Given the description of an element on the screen output the (x, y) to click on. 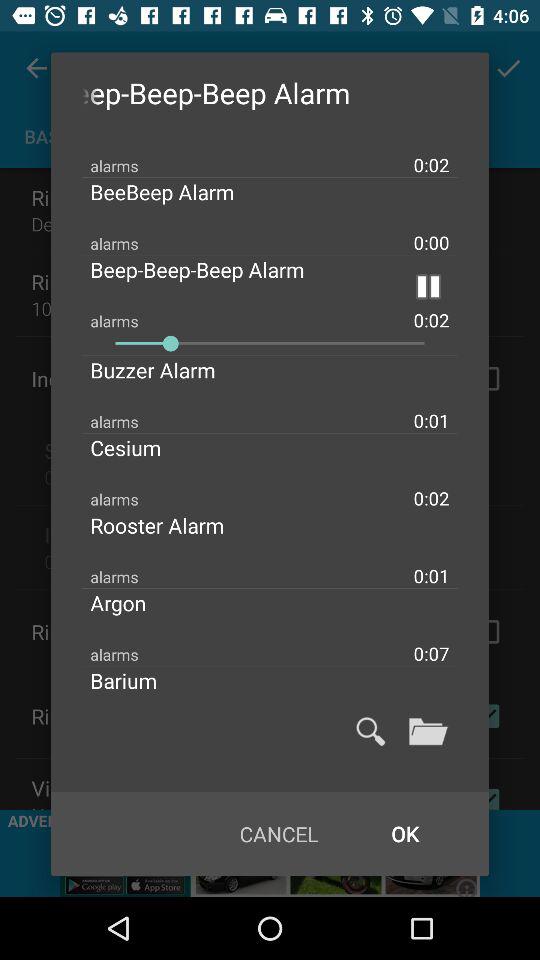
search (370, 731)
